Given the description of an element on the screen output the (x, y) to click on. 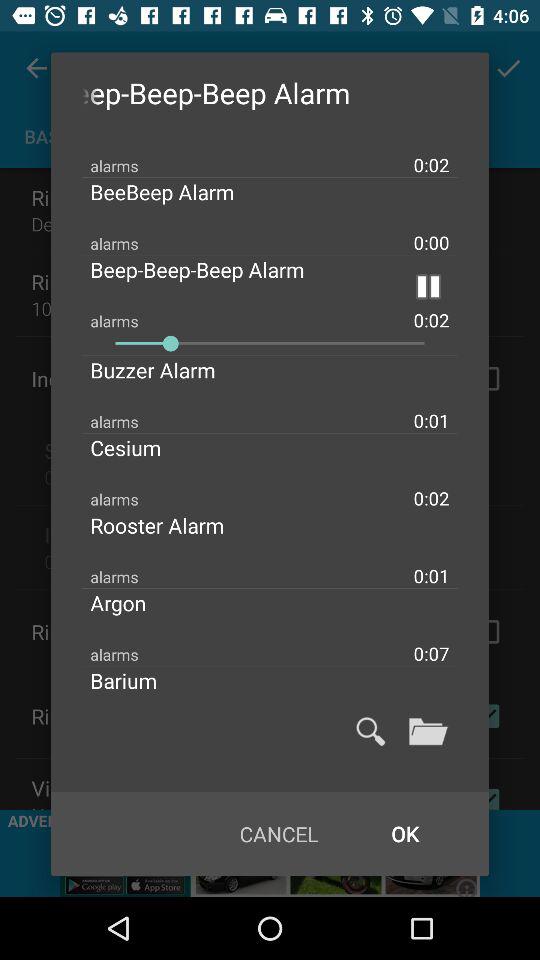
search (370, 731)
